Given the description of an element on the screen output the (x, y) to click on. 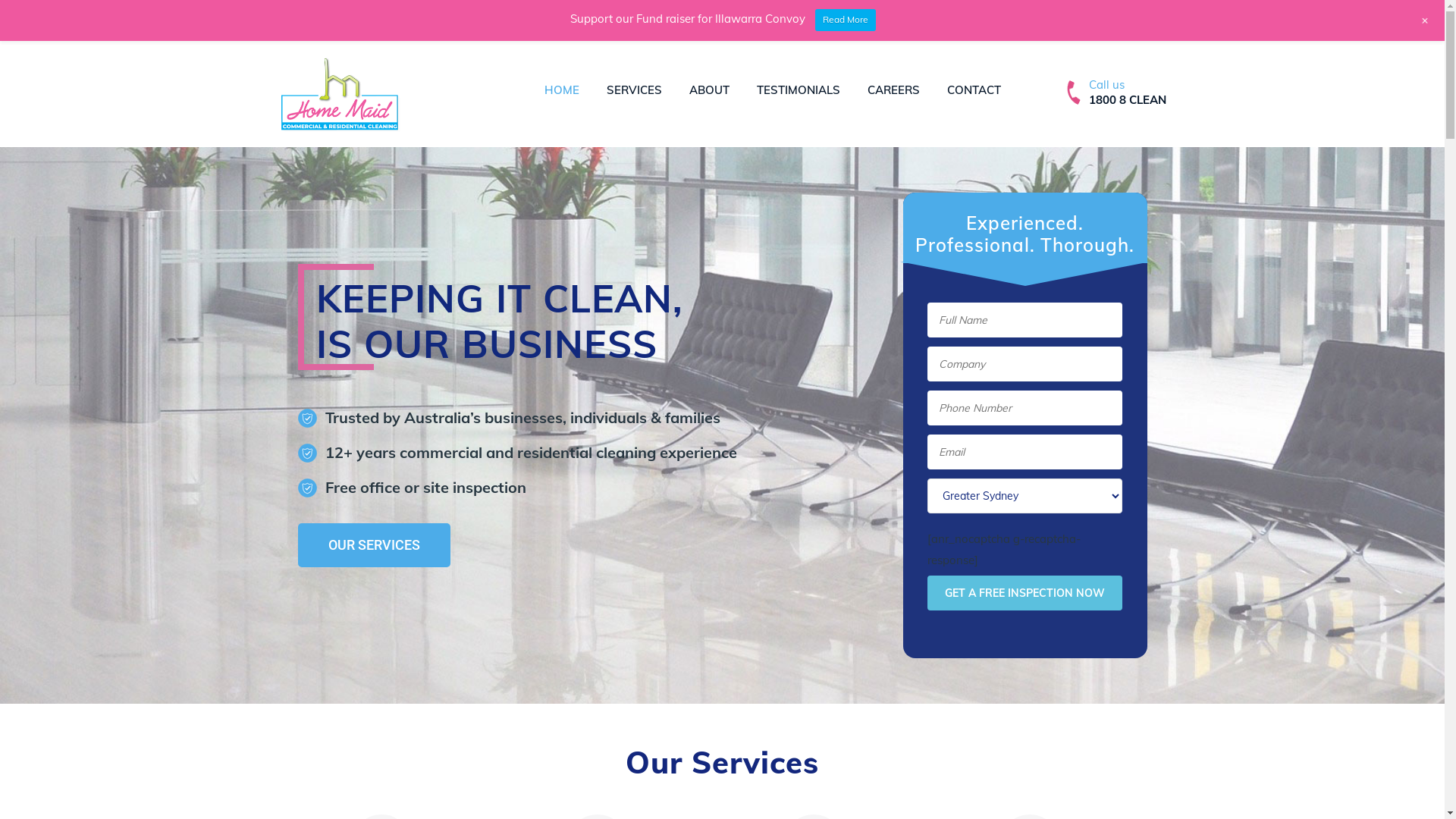
Get a Free Inspection Now Element type: text (1025, 592)
SERVICES Element type: text (634, 90)
ABOUT Element type: text (708, 90)
+ Element type: text (1425, 20)
Read More Element type: text (845, 20)
CAREERS Element type: text (893, 90)
OUR SERVICES Element type: text (373, 545)
CONTACT Element type: text (972, 90)
HOME Element type: text (561, 90)
TESTIMONIALS Element type: text (798, 90)
